Given the description of an element on the screen output the (x, y) to click on. 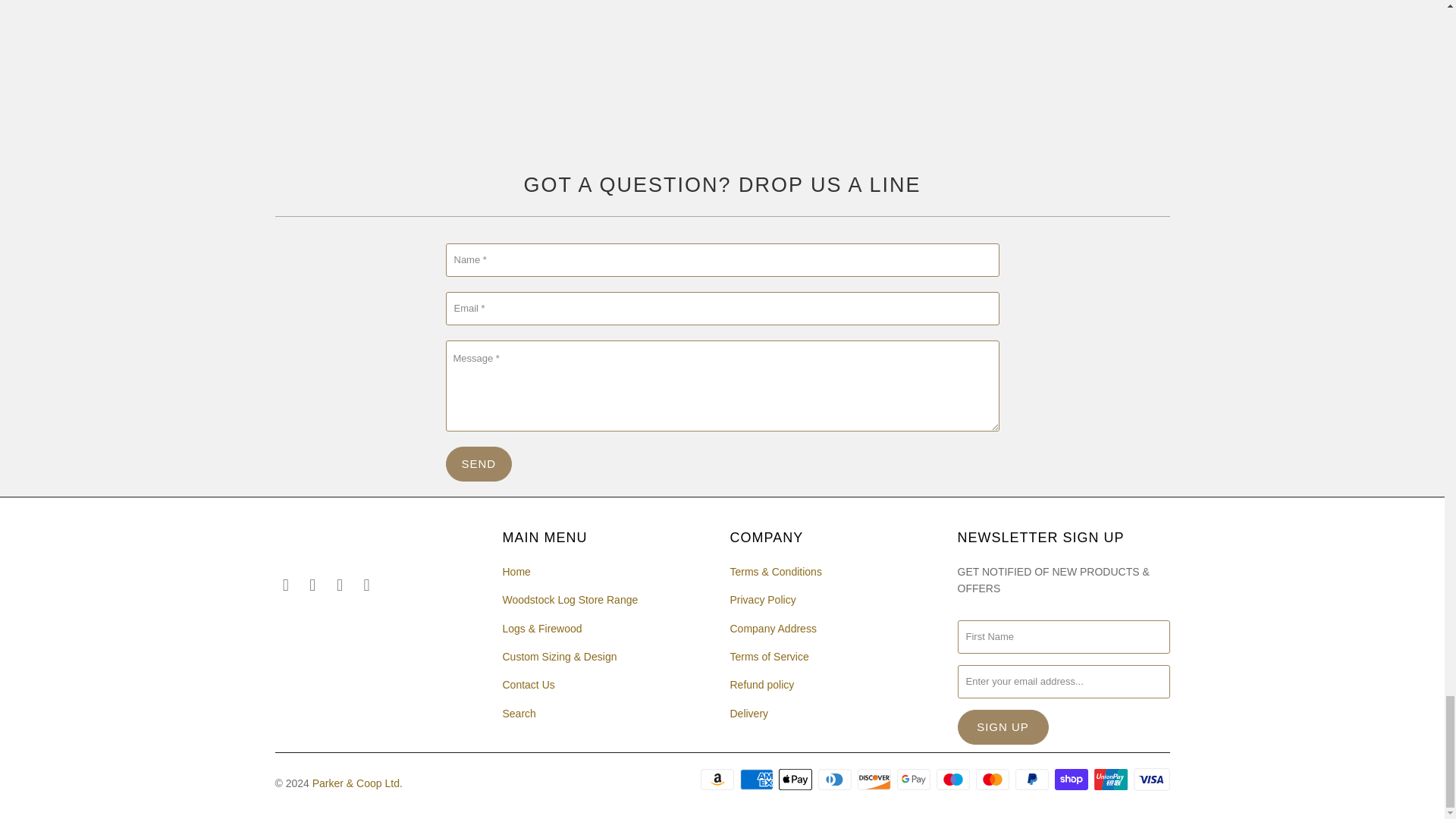
Union Pay (1112, 779)
Diners Club (836, 779)
American Express (757, 779)
Amazon (718, 779)
Mastercard (993, 779)
Sign Up (1002, 727)
Maestro (954, 779)
PayPal (1032, 779)
Apple Pay (796, 779)
Shop Pay (1072, 779)
Discover (875, 779)
Google Pay (914, 779)
Visa (1150, 779)
Send (478, 463)
